Given the description of an element on the screen output the (x, y) to click on. 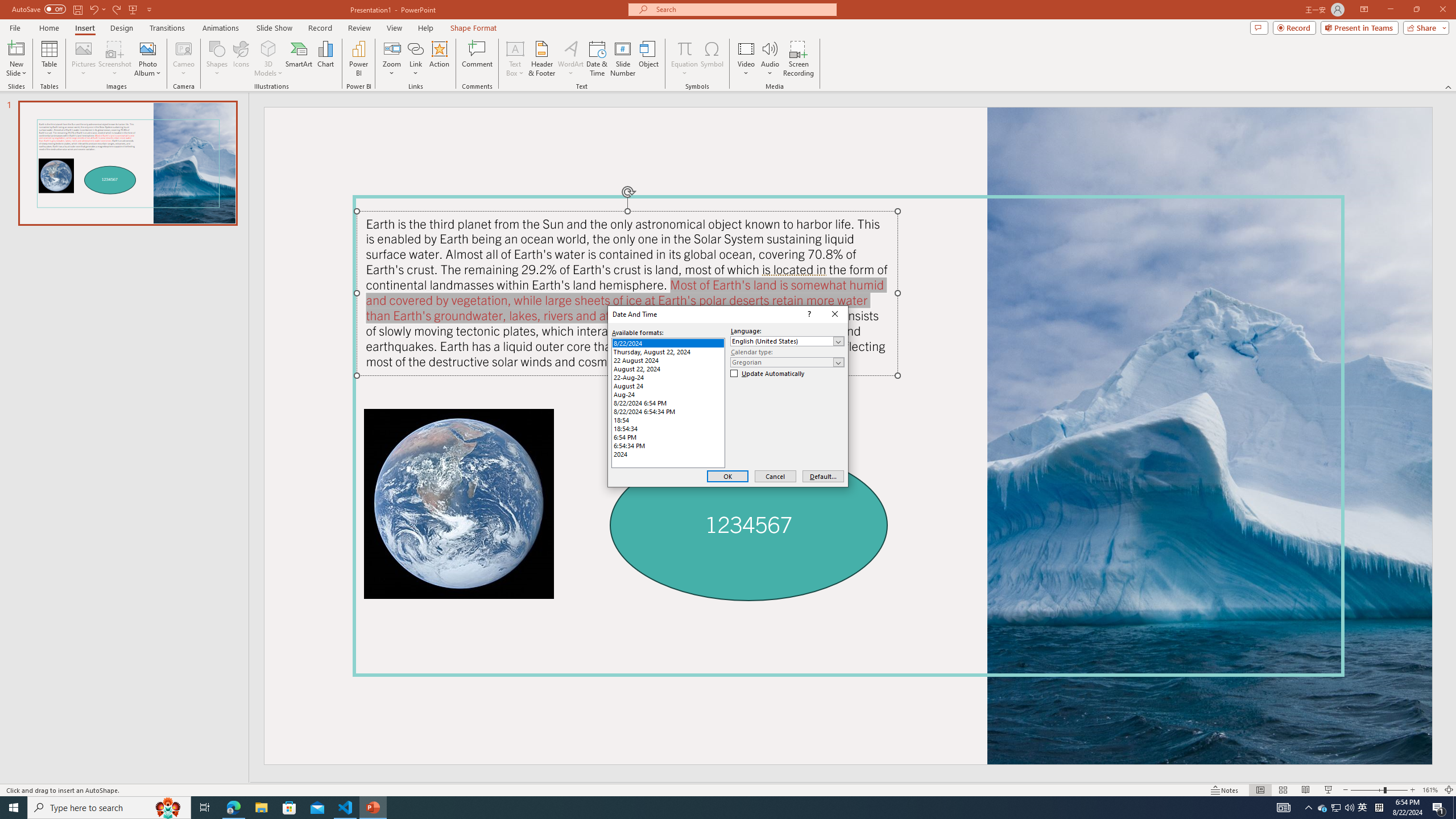
8/22/2024 (667, 343)
SmartArt... (298, 58)
Screenshot (114, 58)
